Given the description of an element on the screen output the (x, y) to click on. 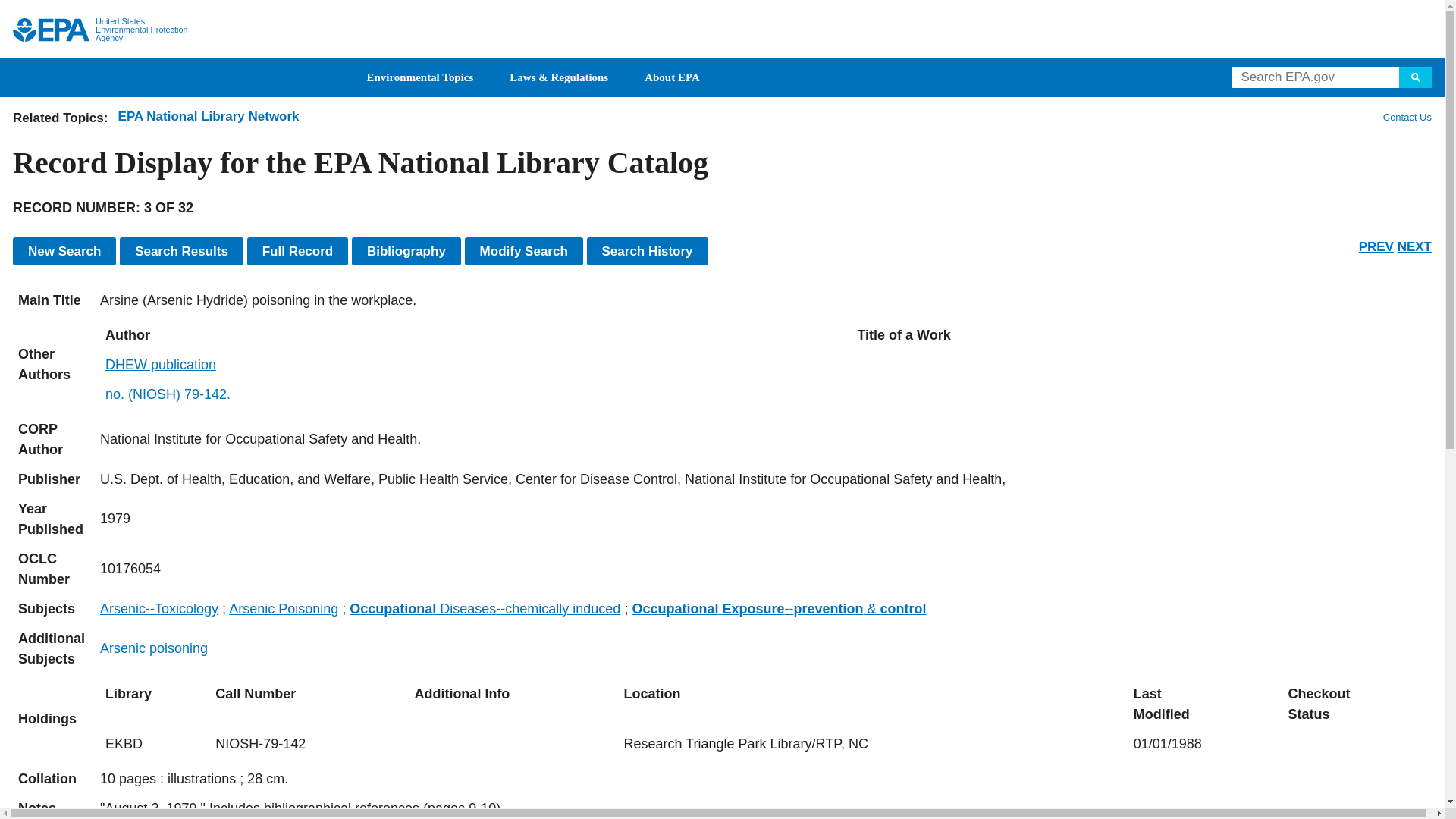
Arsenic Poisoning (282, 608)
Arsenic poisoning (154, 648)
Contact the EPA National Library Network (1407, 117)
Full Record (298, 251)
Go to the home page (50, 29)
Display Full Record (298, 251)
Occupational Diseases--chemically induced (484, 608)
Search Results (181, 251)
PREV (1375, 246)
